Given the description of an element on the screen output the (x, y) to click on. 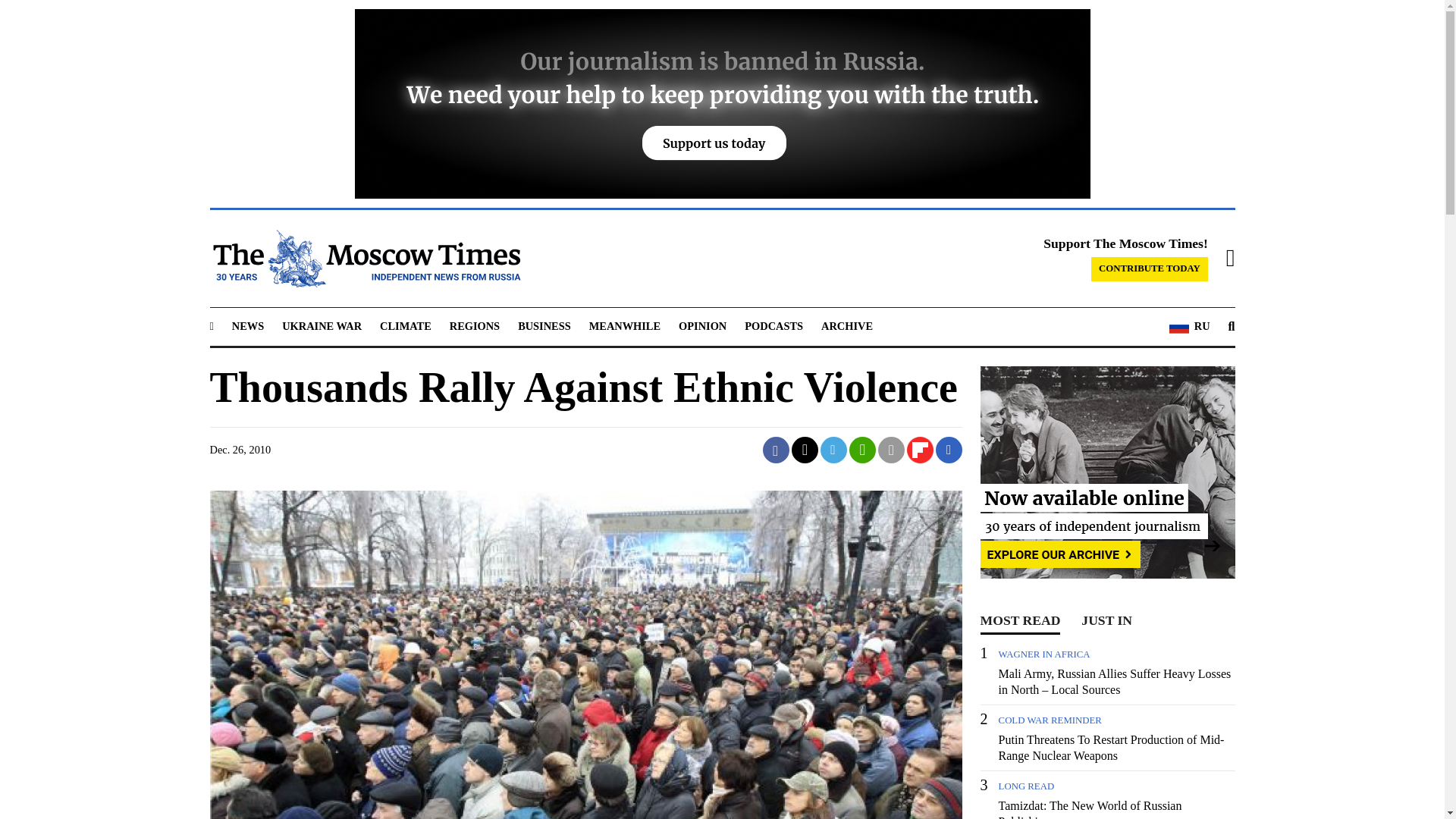
OPINION (702, 326)
CLIMATE (405, 326)
The Moscow Times - Independent News from Russia (364, 258)
REGIONS (474, 326)
MEANWHILE (625, 326)
RU (1189, 326)
Share on Telegram (834, 449)
UKRAINE WAR (321, 326)
Share on Facebook (775, 449)
BUSINESS (544, 326)
Share on Flipboard (920, 449)
CONTRIBUTE TODAY (1149, 269)
ARCHIVE (846, 326)
PODCASTS (773, 326)
NEWS (247, 326)
